Given the description of an element on the screen output the (x, y) to click on. 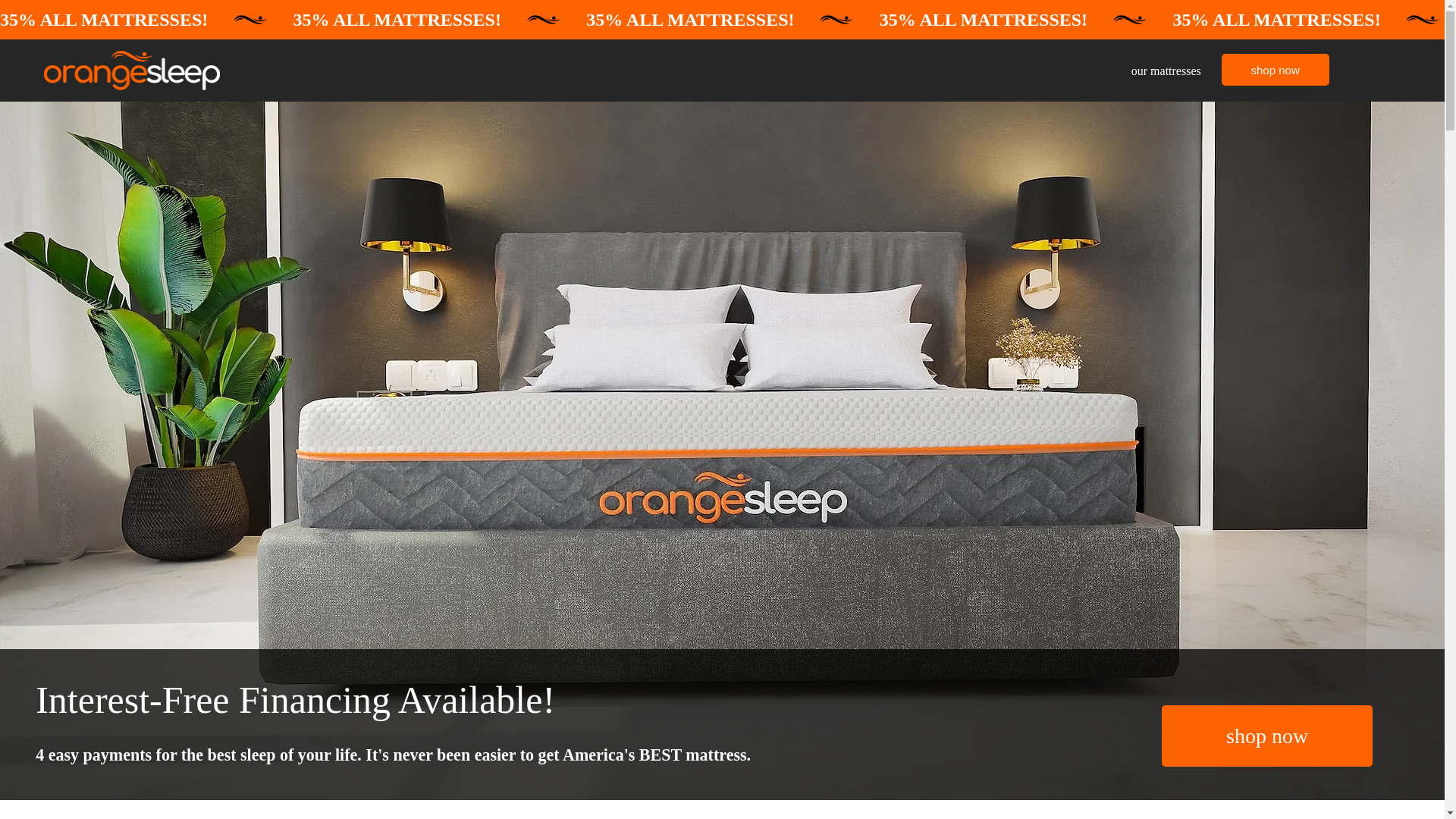
our mattresses (1165, 70)
shop now (1275, 69)
shop now (1266, 736)
